Given the description of an element on the screen output the (x, y) to click on. 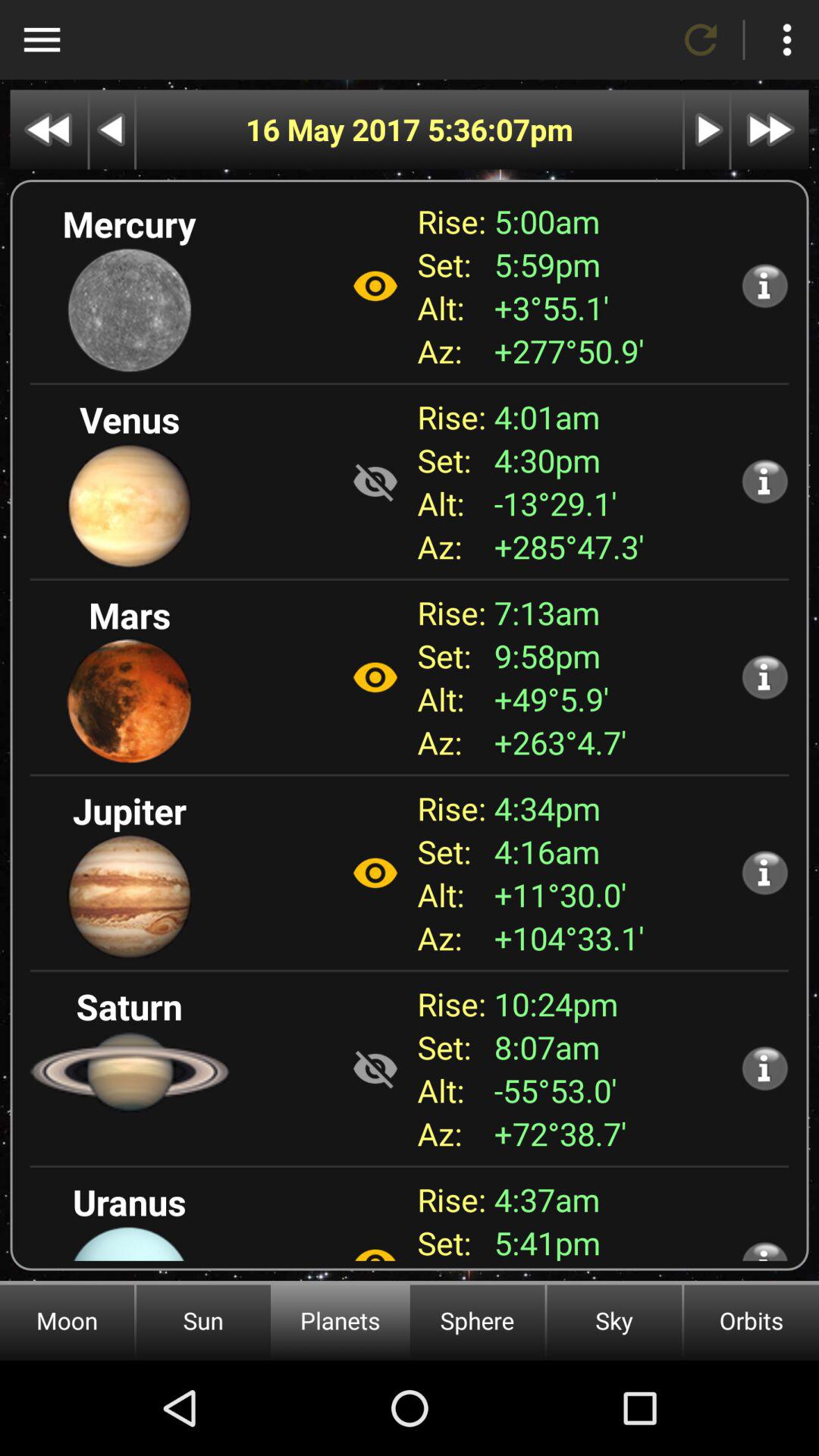
go back (48, 129)
